Given the description of an element on the screen output the (x, y) to click on. 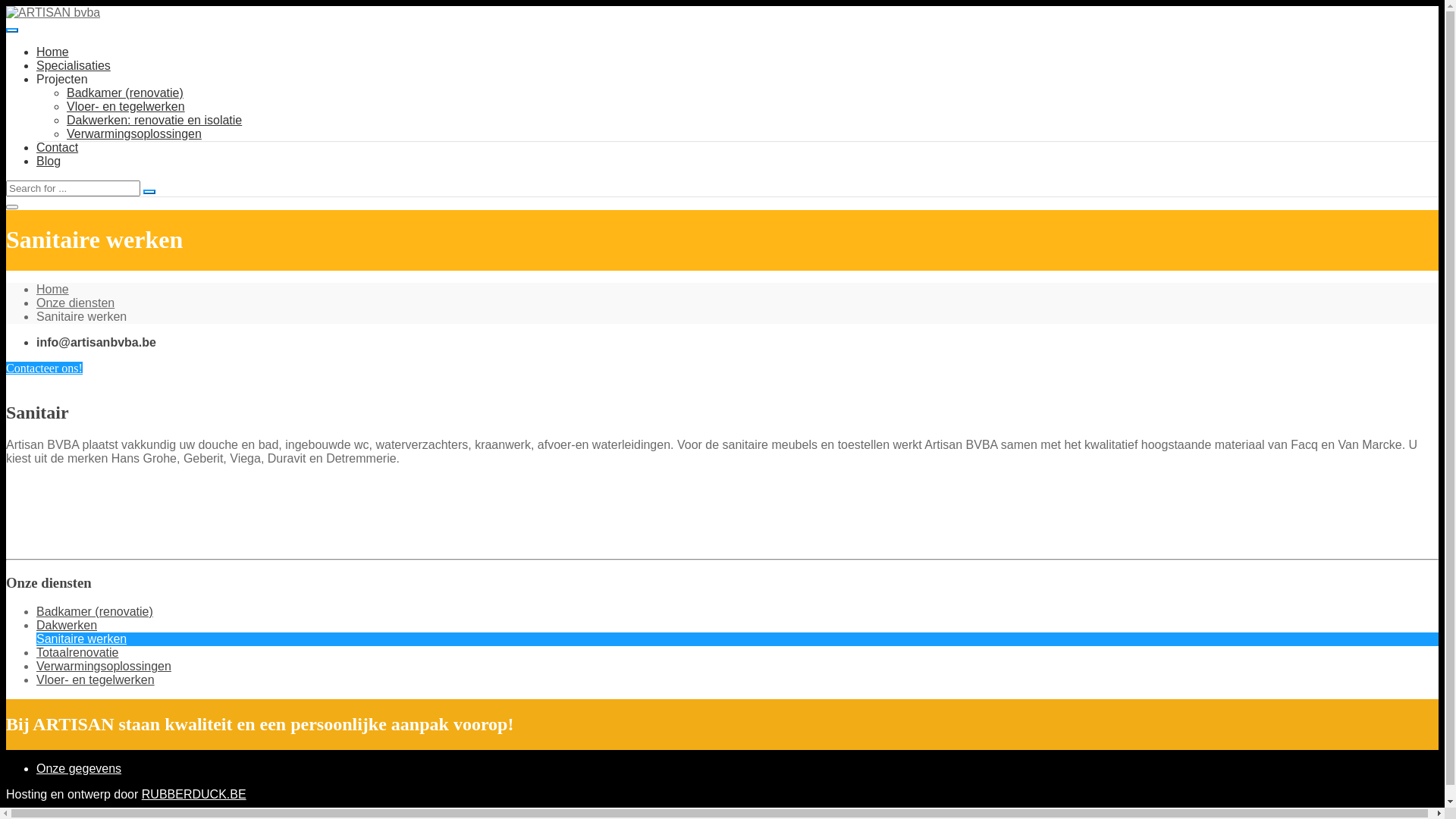
Verwarmingsoplossingen Element type: text (103, 665)
Home Element type: text (52, 288)
Vloer- en tegelwerken Element type: text (125, 106)
Home Element type: text (52, 51)
Onze diensten Element type: text (75, 302)
Sanitaire werken Element type: text (81, 638)
Vloer- en tegelwerken Element type: text (95, 679)
Onze gegevens Element type: text (78, 768)
Projecten Element type: text (61, 78)
Blog Element type: text (48, 160)
Totaalrenovatie Element type: text (77, 652)
Dakwerken: renovatie en isolatie Element type: text (153, 119)
Dakwerken Element type: text (66, 624)
RUBBERDUCK.BE Element type: text (193, 793)
info@artisanbvba.be Element type: text (96, 341)
Badkamer (renovatie) Element type: text (124, 92)
Contacteer ons! Element type: text (44, 367)
Specialisaties Element type: text (73, 65)
Verwarmingsoplossingen Element type: text (133, 133)
Badkamer (renovatie) Element type: text (94, 611)
Contact Element type: text (57, 147)
